Given the description of an element on the screen output the (x, y) to click on. 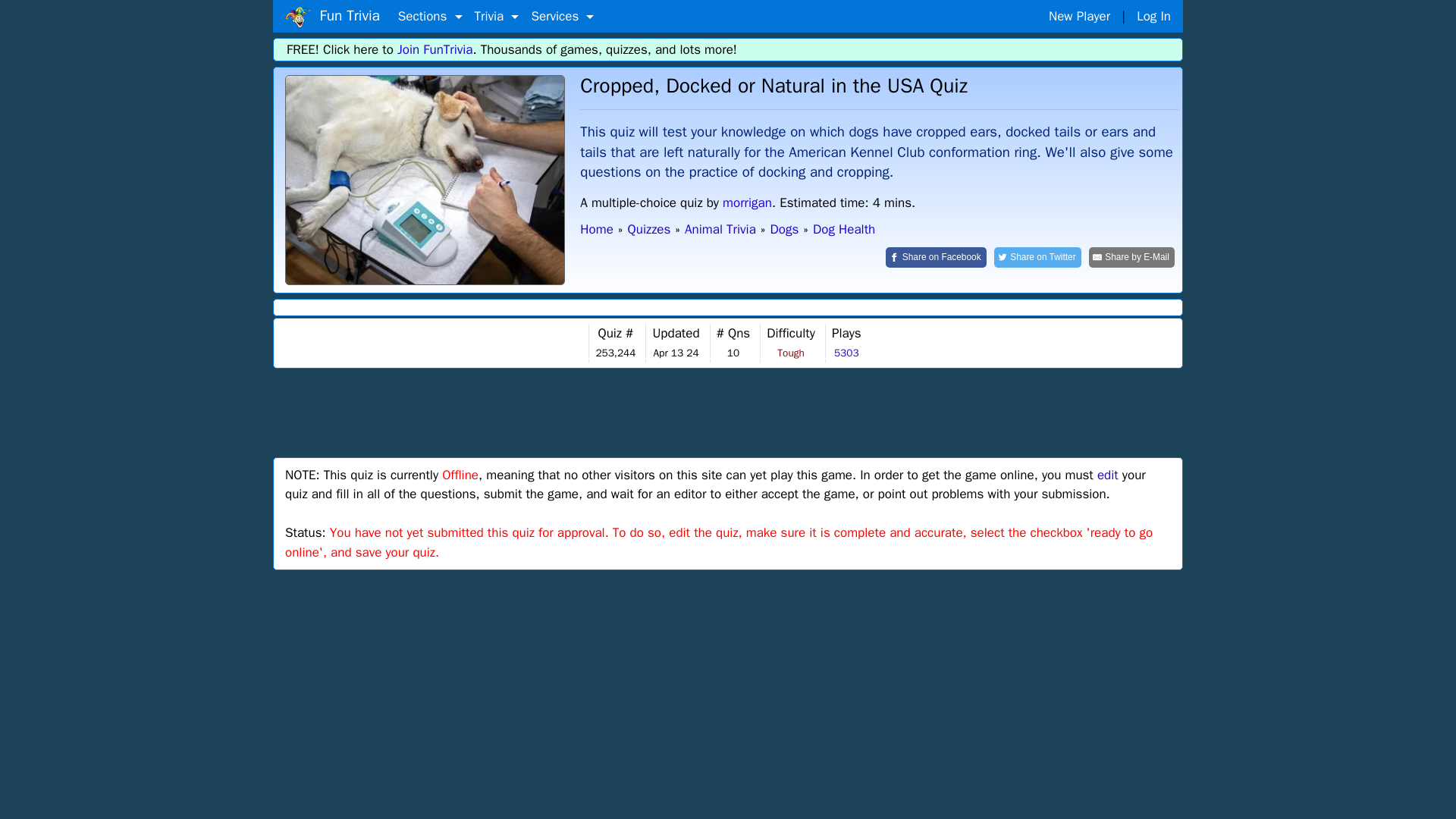
Trivia (496, 16)
Home (298, 16)
Fun Trivia (424, 180)
  Fun Trivia (332, 15)
Services (561, 16)
Sections (429, 16)
